Given the description of an element on the screen output the (x, y) to click on. 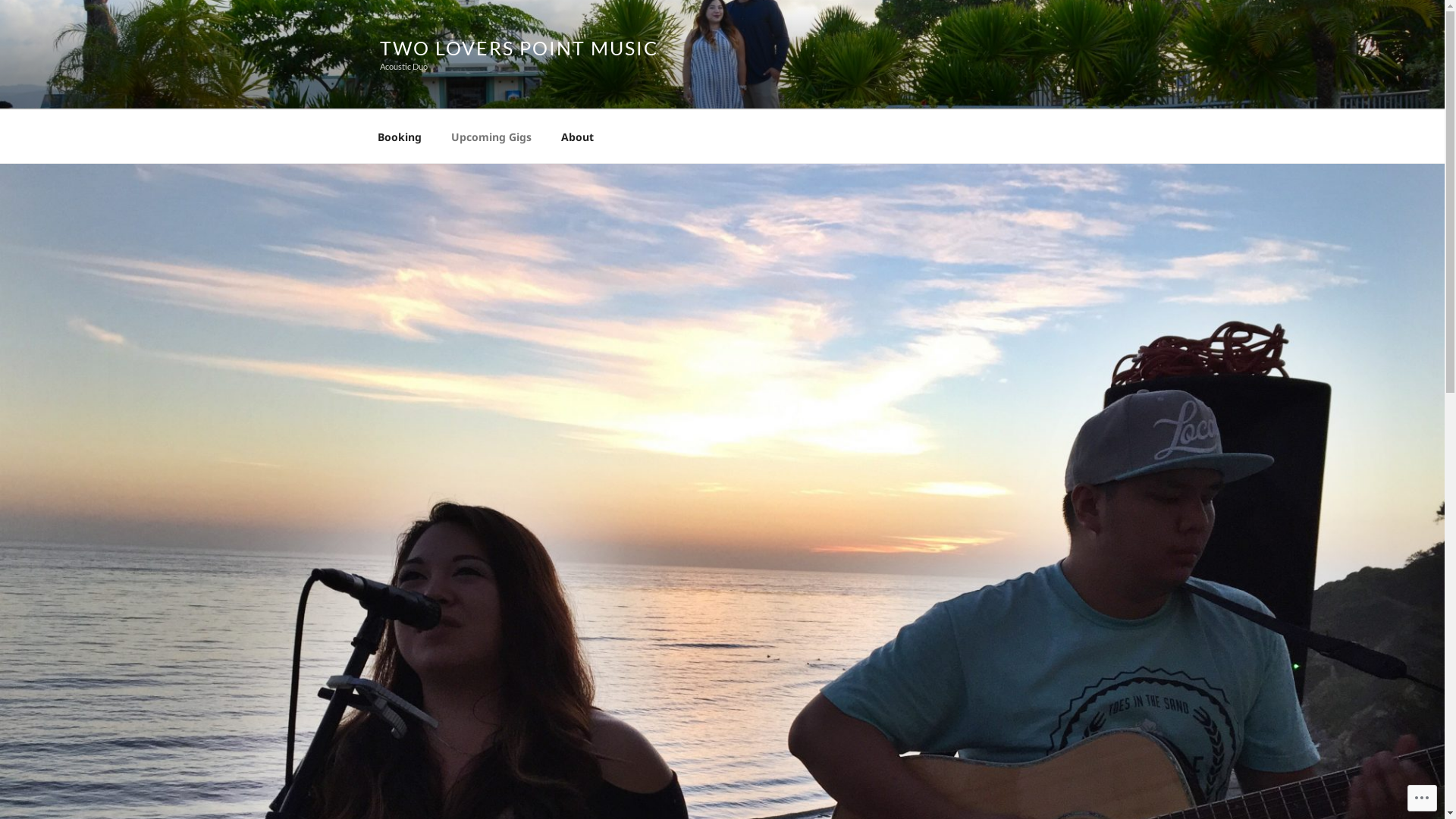
About Element type: text (576, 136)
Booking Element type: text (399, 136)
TWO LOVERS POINT MUSIC Element type: text (518, 47)
Upcoming Gigs Element type: text (491, 136)
